Given the description of an element on the screen output the (x, y) to click on. 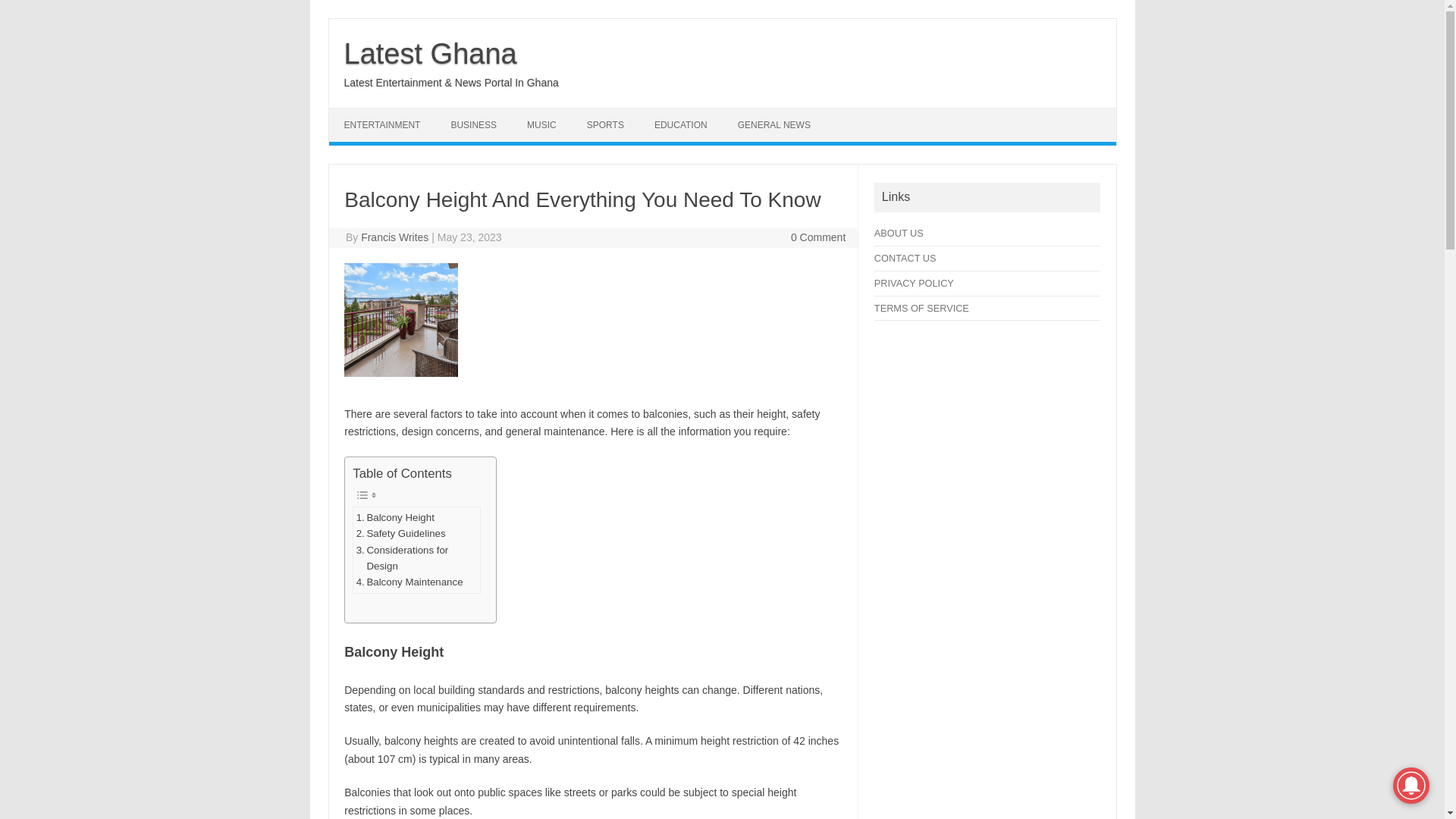
TERMS OF SERVICE (922, 307)
Balcony Maintenance (409, 581)
Safety Guidelines (400, 533)
CONTACT US (905, 257)
ABOUT US (899, 233)
Latest Ghana (429, 53)
ENTERTAINMENT (382, 124)
Considerations for Design (416, 558)
0 Comment (817, 236)
SPORTS (605, 124)
Balcony Height (394, 517)
Balcony Maintenance (409, 581)
PRIVACY POLICY (914, 283)
